Given the description of an element on the screen output the (x, y) to click on. 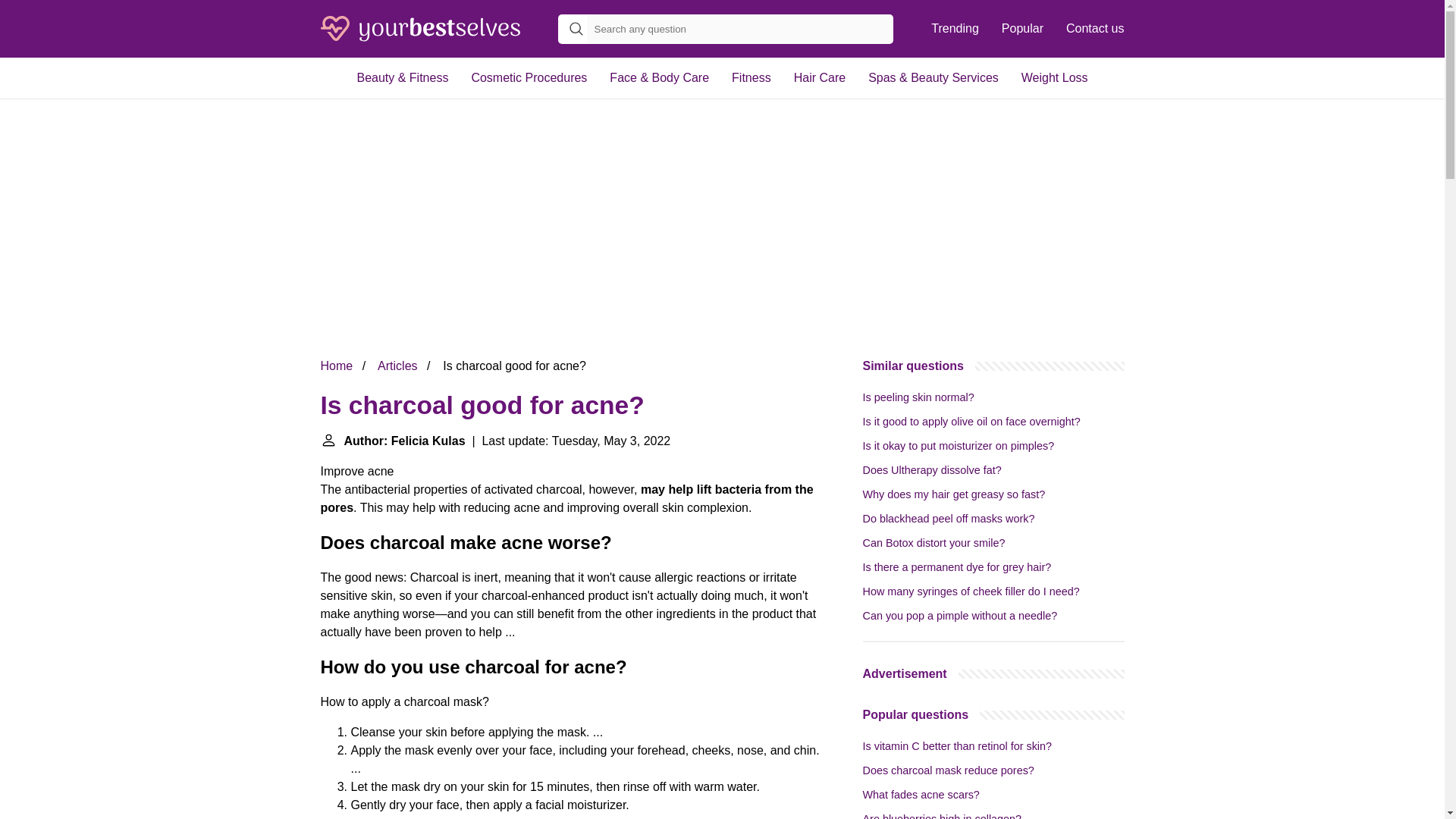
Why does my hair get greasy so fast? (954, 494)
What fades acne scars? (921, 794)
Is it okay to put moisturizer on pimples? (958, 445)
Is it good to apply olive oil on face overnight? (971, 421)
Does charcoal mask reduce pores? (948, 770)
Is peeling skin normal? (918, 397)
Fitness (751, 77)
Home (336, 365)
Hair Care (820, 77)
Is vitamin C better than retinol for skin? (957, 746)
